Given the description of an element on the screen output the (x, y) to click on. 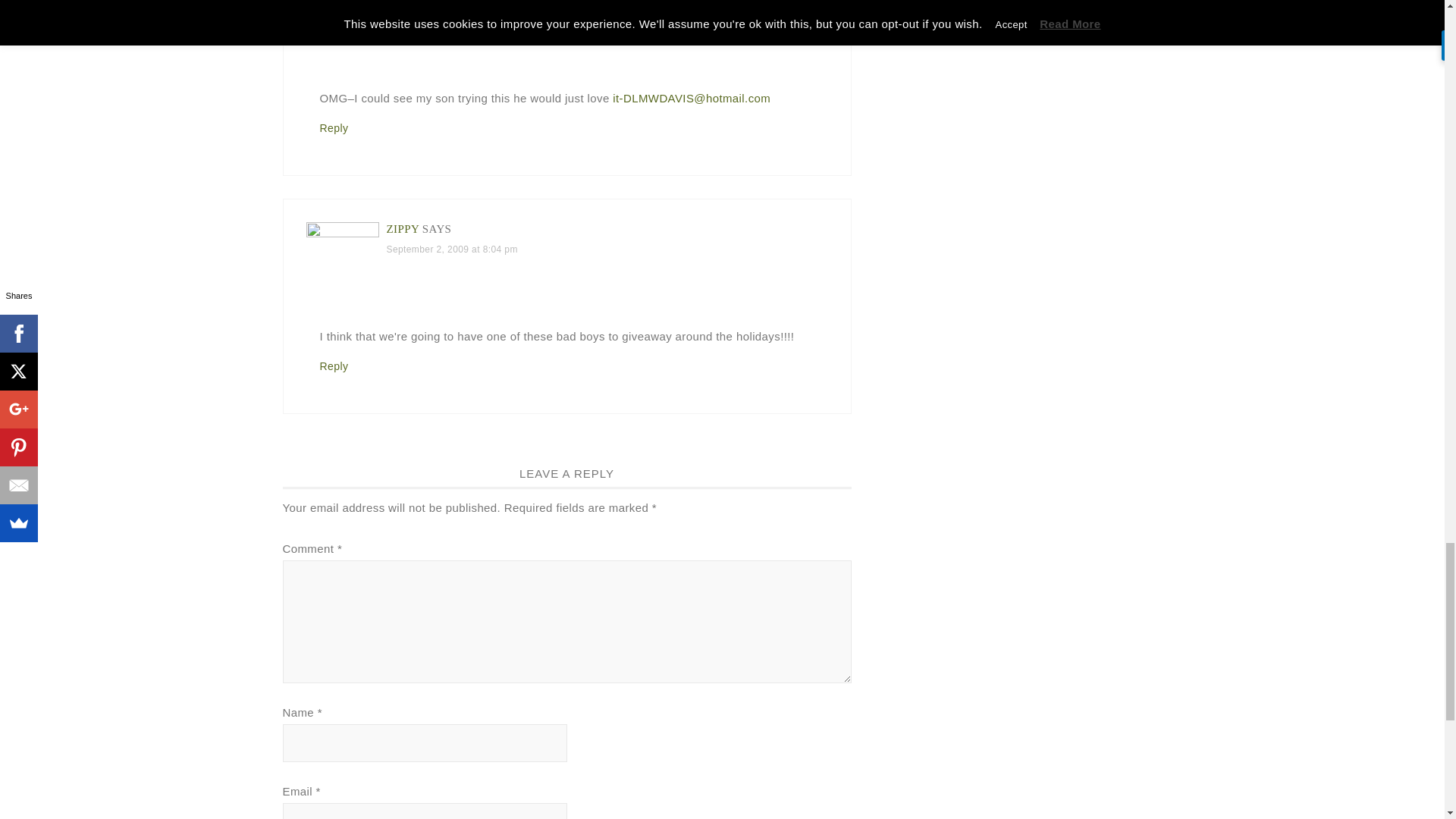
Reply (334, 366)
September 2, 2009 at 8:04 pm (452, 249)
ZIPPY (403, 228)
September 1, 2009 at 4:59 pm (452, 10)
Reply (334, 128)
